Given the description of an element on the screen output the (x, y) to click on. 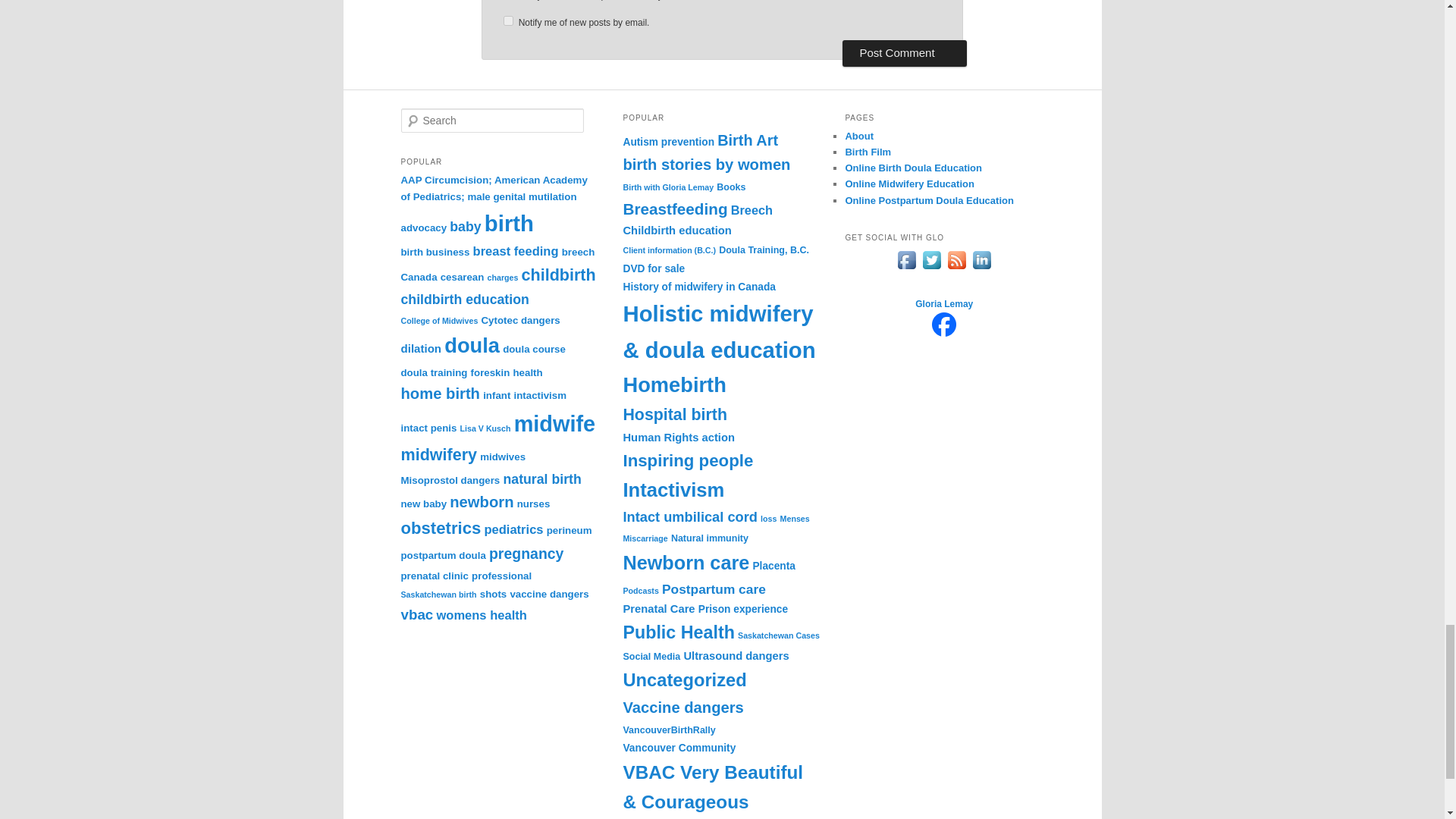
subscribe (508, 20)
Gloria Lemay (943, 303)
Check Our Feed (956, 268)
Gloria Lemay (943, 332)
Visit Us On Linkedin (981, 268)
Visit Us On Twitter (930, 268)
Post Comment (904, 53)
Visit Us On Facebook (905, 268)
